Given the description of an element on the screen output the (x, y) to click on. 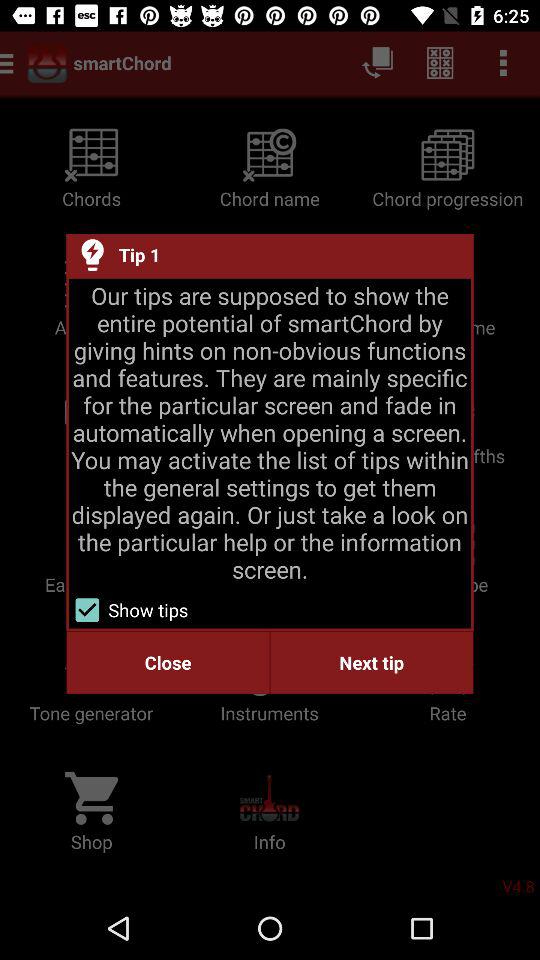
open item below show tips item (371, 662)
